Given the description of an element on the screen output the (x, y) to click on. 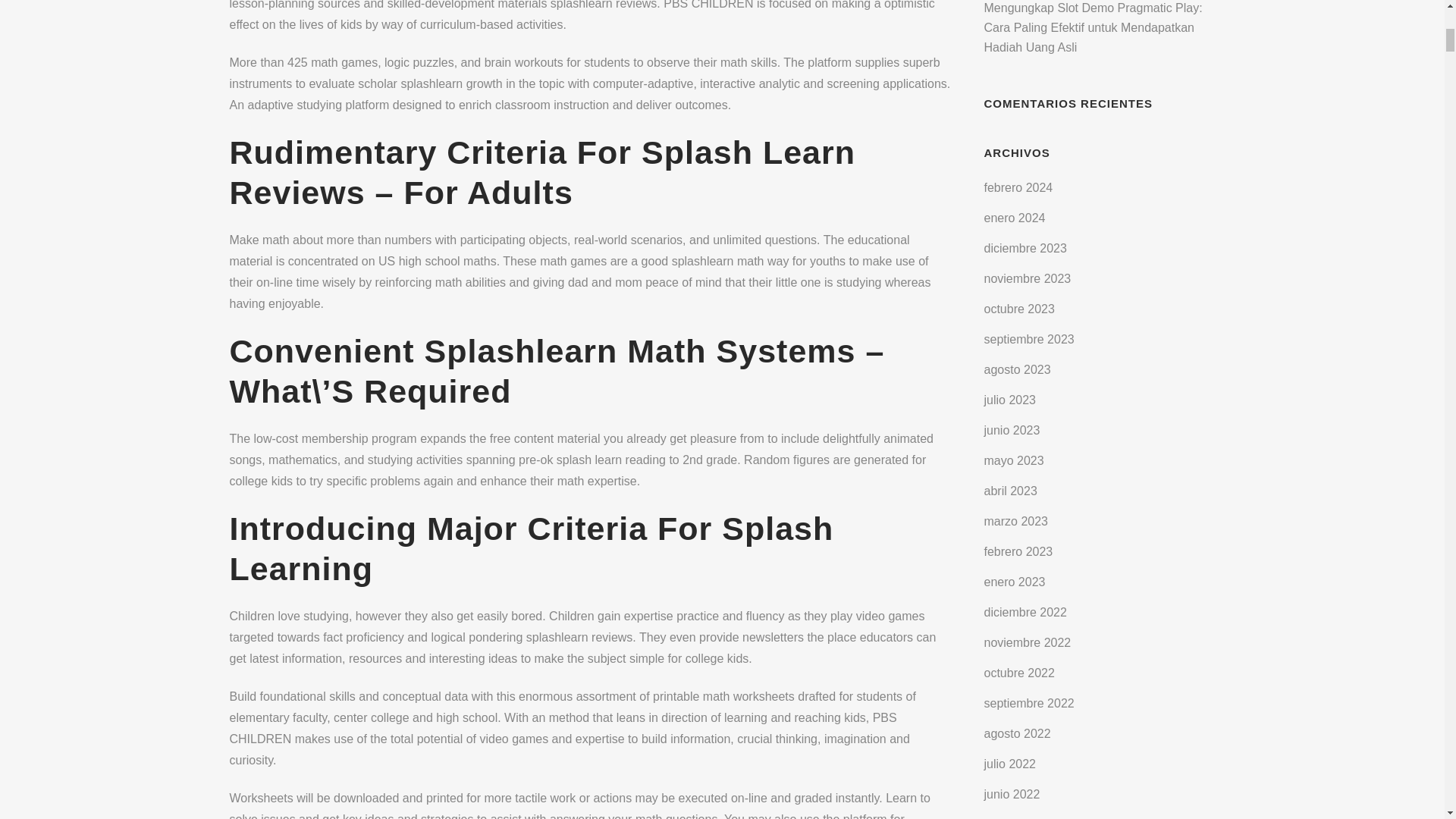
febrero 2024 (1018, 187)
julio 2023 (1010, 399)
noviembre 2022 (1027, 642)
septiembre 2023 (1029, 338)
marzo 2023 (1016, 521)
agosto 2023 (1017, 369)
enero 2024 (1014, 217)
junio 2023 (1012, 430)
noviembre 2023 (1027, 278)
abril 2023 (1010, 490)
mayo 2023 (1013, 460)
diciembre 2023 (1025, 247)
enero 2023 (1014, 581)
febrero 2023 (1018, 551)
